Given the description of an element on the screen output the (x, y) to click on. 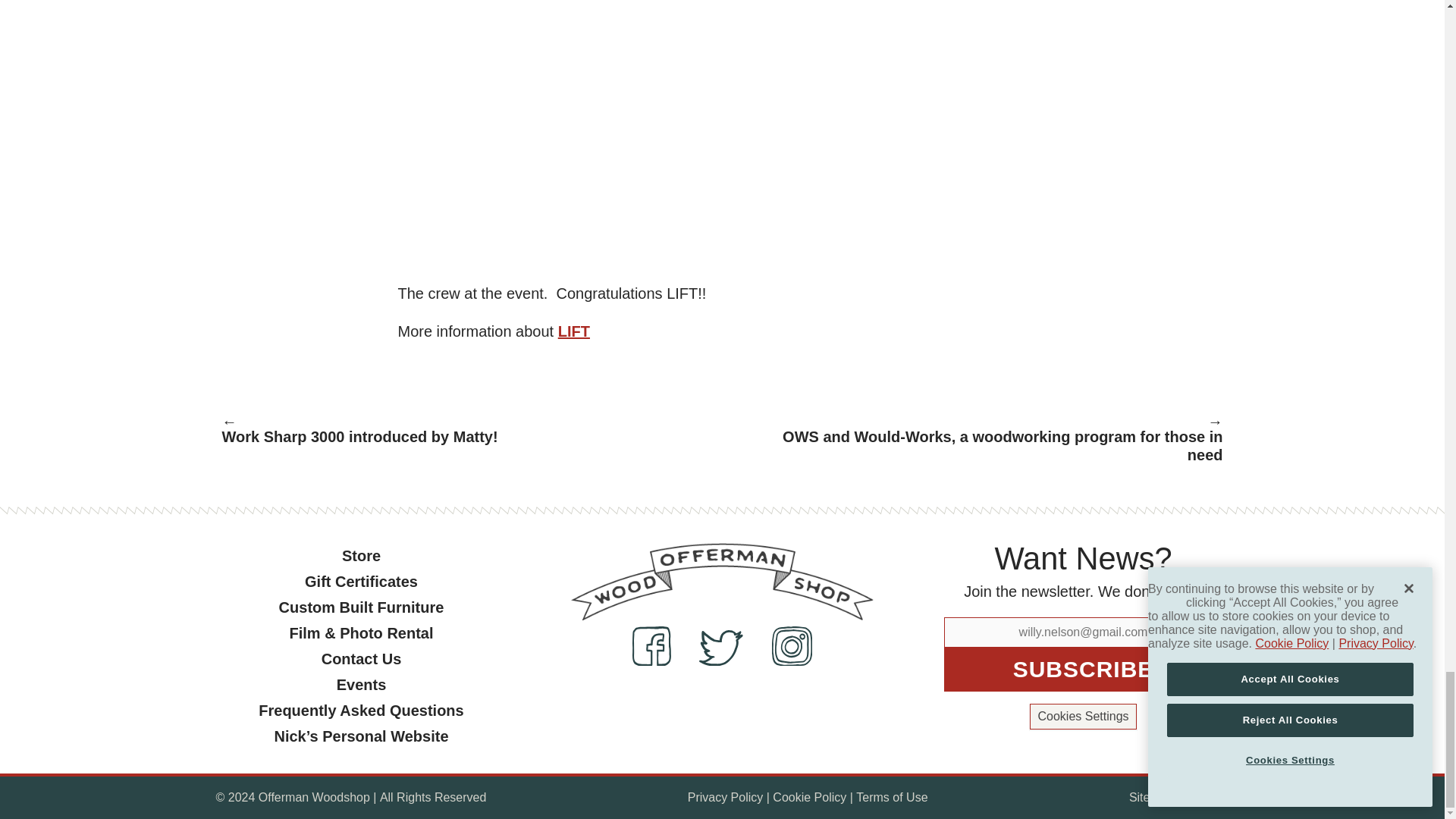
Privacy Policy (724, 797)
OWS and Would-Works, a woodworking program for those in need (984, 441)
Cookie Policy (809, 797)
Work Sharp 3000 introduced by Matty! (458, 432)
Terms of Use (891, 797)
LIFT (573, 330)
Subscribe (1083, 669)
Lift (573, 330)
